Given the description of an element on the screen output the (x, y) to click on. 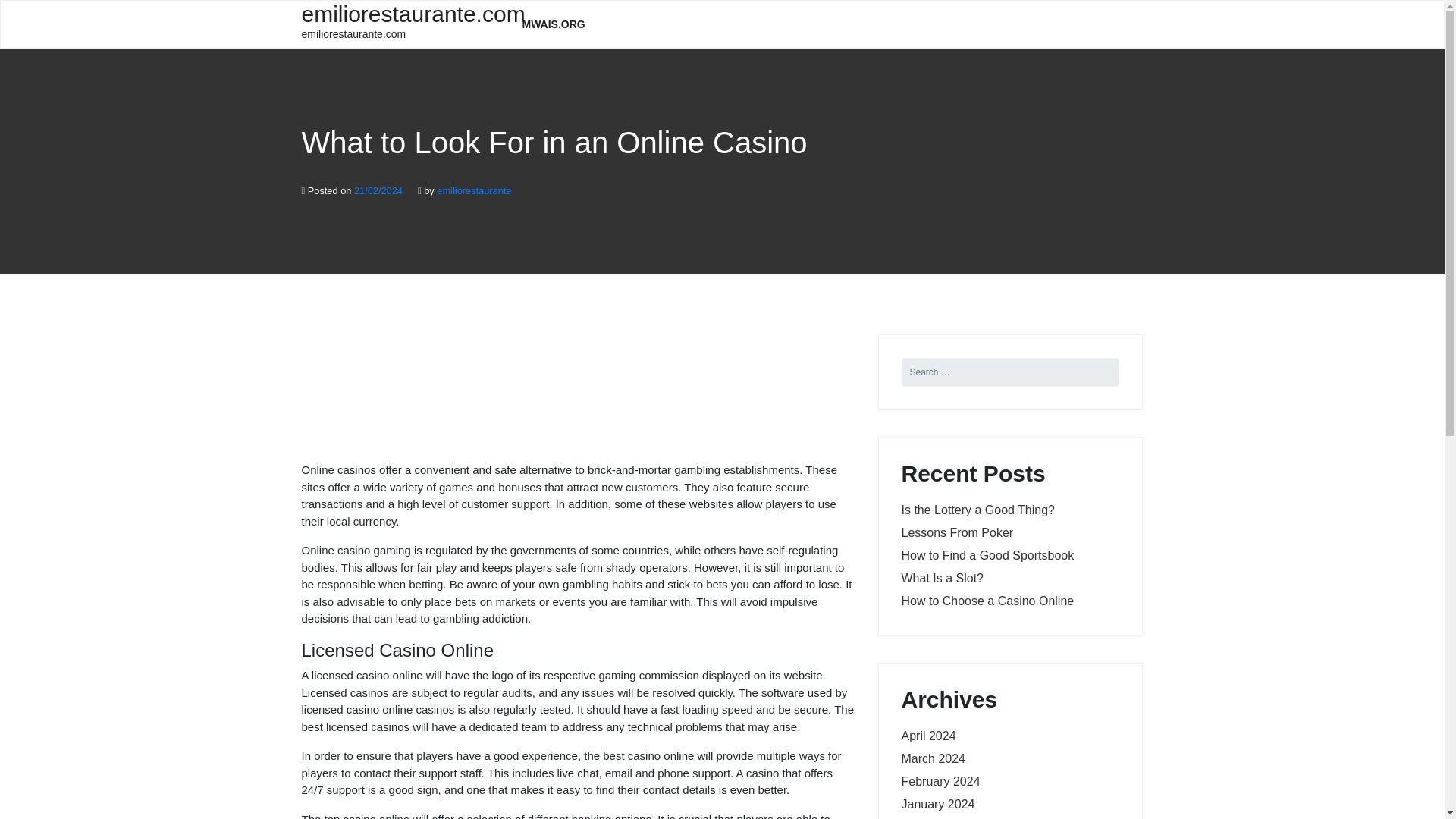
How to Choose a Casino Online (987, 600)
March 2024 (933, 758)
emiliorestaurante (473, 190)
What Is a Slot? (400, 22)
Is the Lottery a Good Thing? (942, 577)
How to Find a Good Sportsbook (977, 509)
Lessons From Poker (987, 554)
February 2024 (957, 532)
MWAIS.ORG (940, 780)
January 2024 (552, 23)
April 2024 (937, 803)
mwais.org (928, 735)
